Given the description of an element on the screen output the (x, y) to click on. 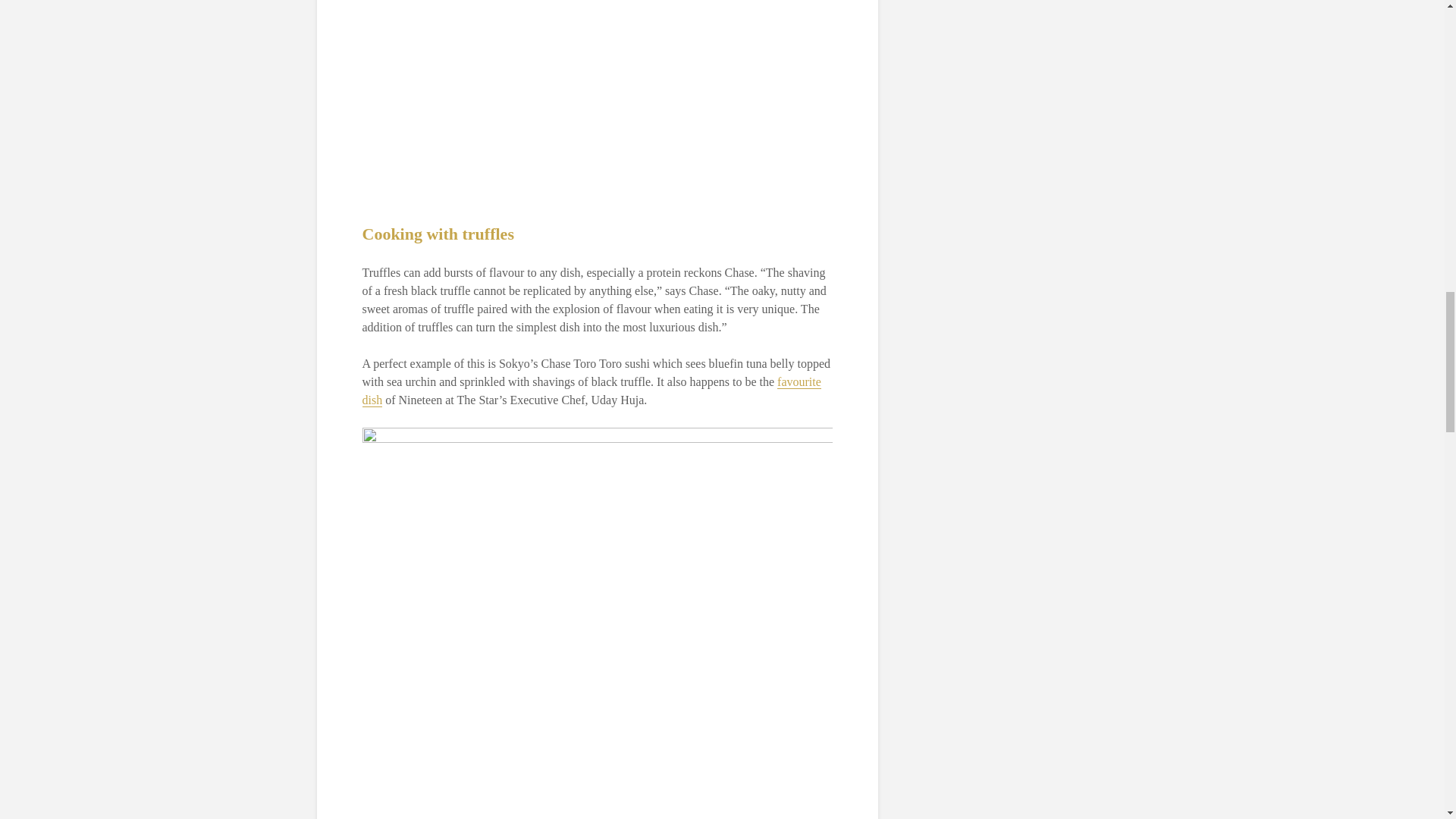
favourite dish (591, 391)
